Given the description of an element on the screen output the (x, y) to click on. 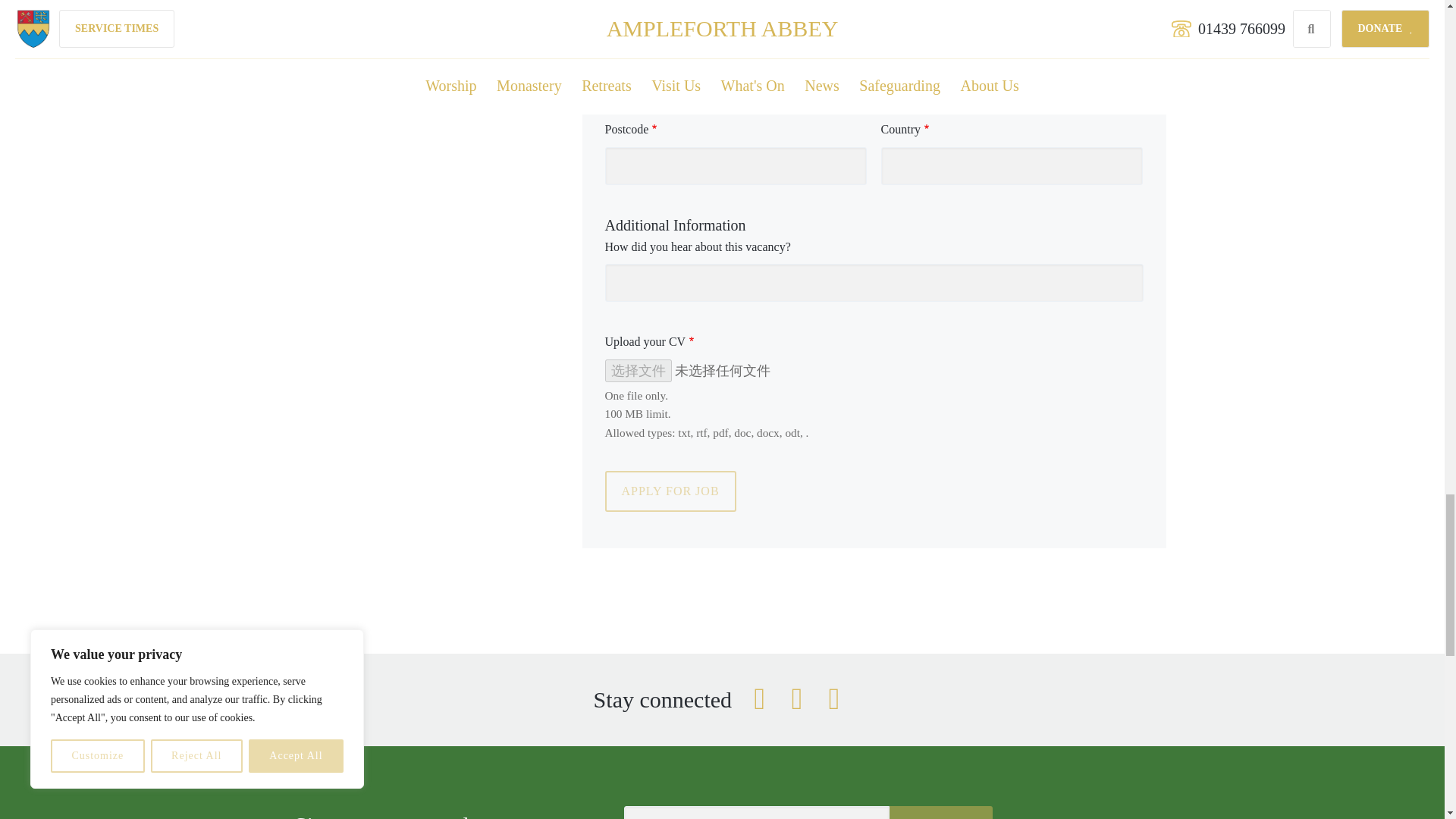
Apply for job (670, 490)
Subscribe (940, 812)
